Given the description of an element on the screen output the (x, y) to click on. 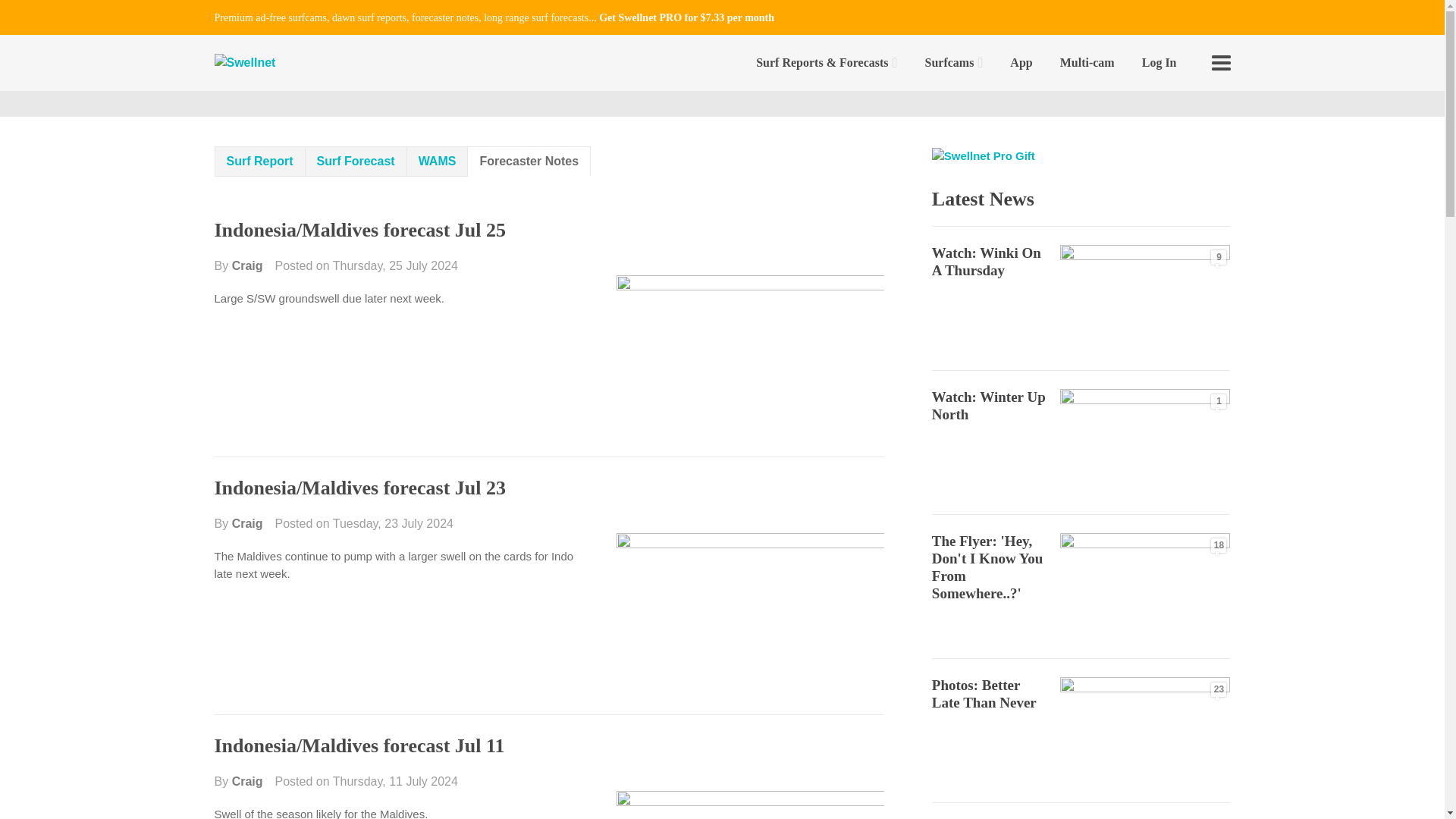
Multi-cam (1087, 62)
Log In (1159, 62)
Surf Forecast (355, 161)
Swellnet (244, 63)
Forecaster Notes (529, 161)
WAMS (437, 161)
Surfcams (954, 62)
Surf Report (259, 161)
